Given the description of an element on the screen output the (x, y) to click on. 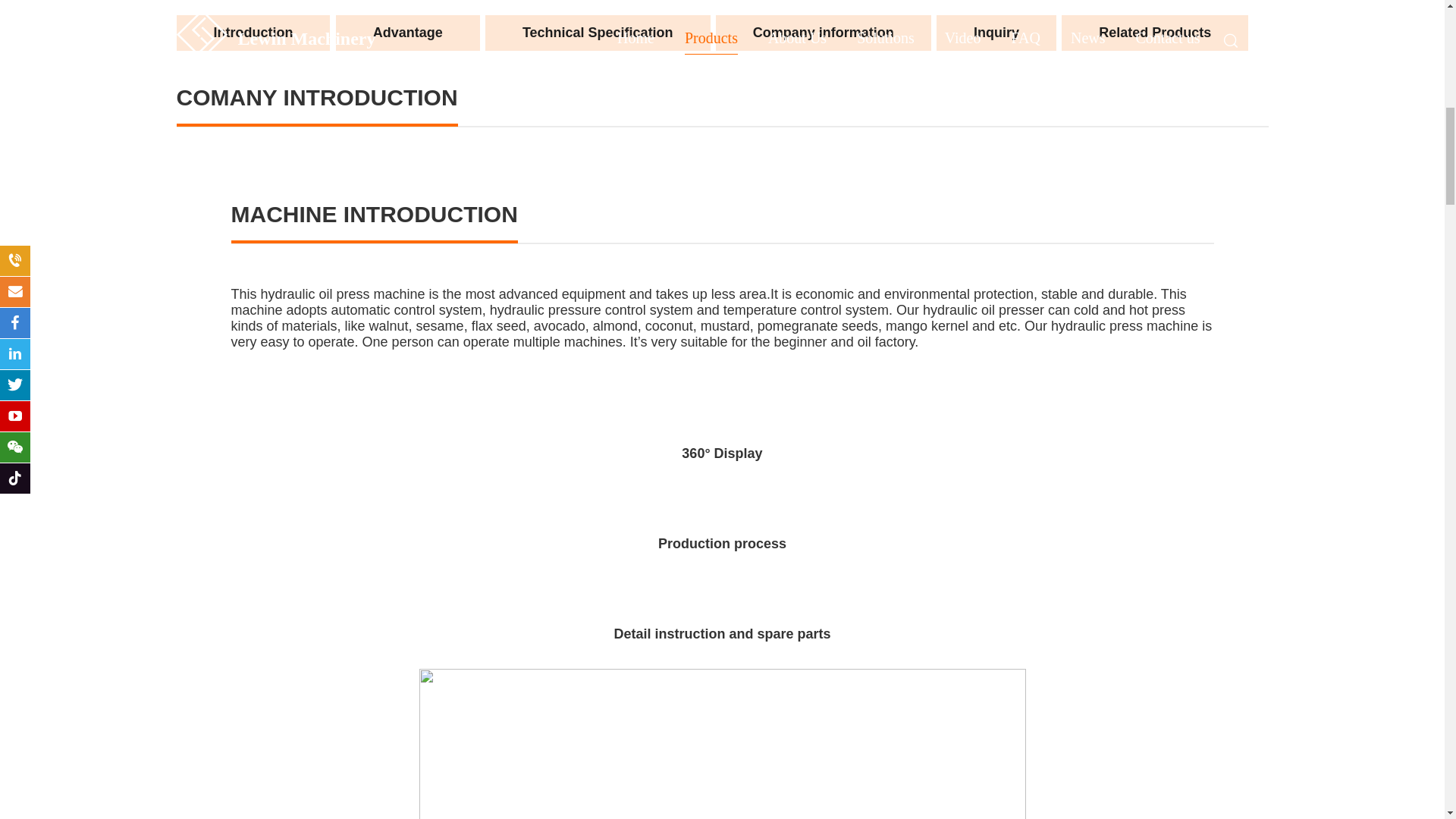
2 (408, 32)
4 (823, 32)
1 (253, 32)
Advantage (408, 32)
3 (597, 32)
Introduction (253, 32)
6 (1154, 32)
Technical Specification (597, 32)
5 (996, 32)
